Given the description of an element on the screen output the (x, y) to click on. 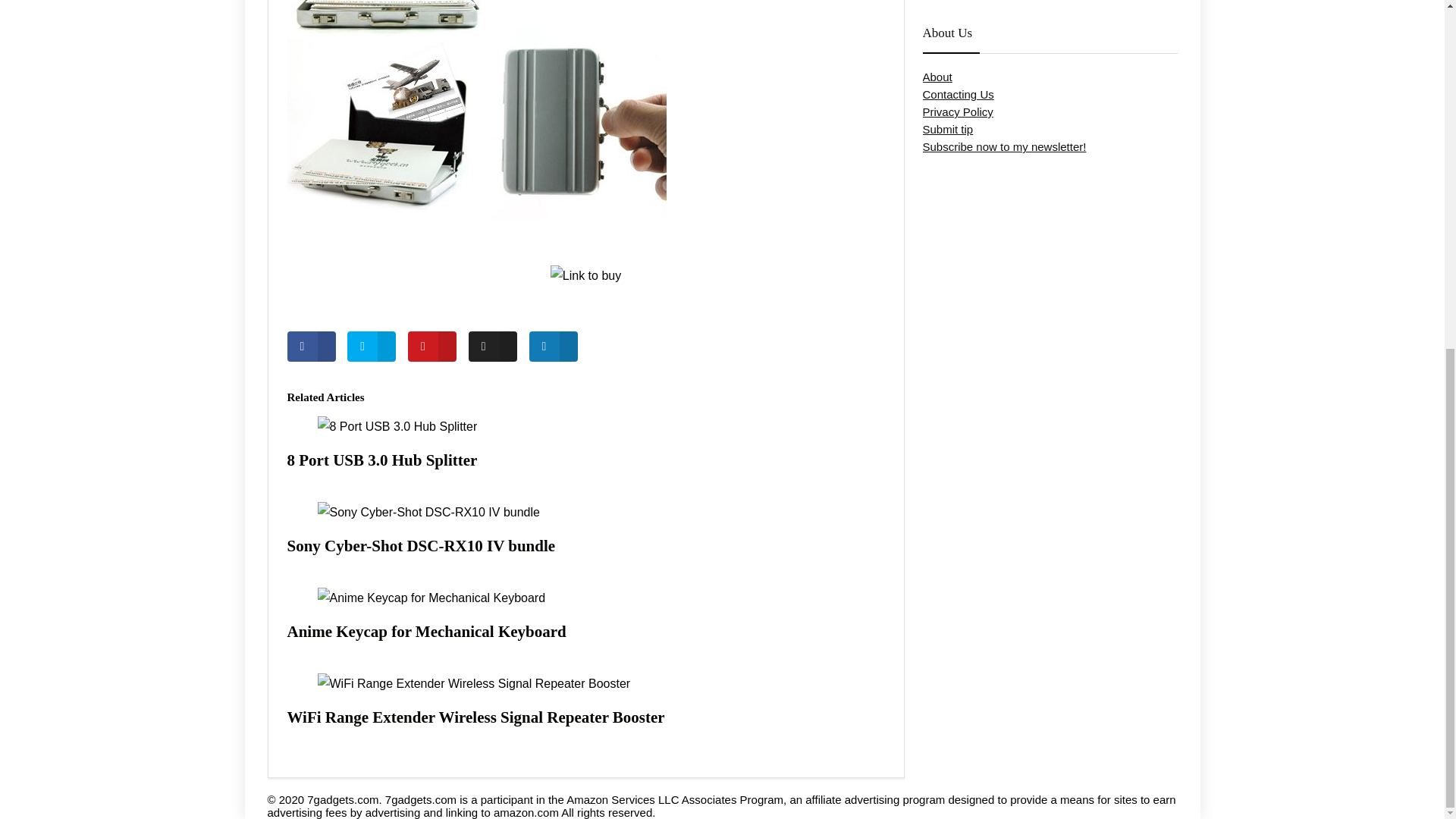
Buy now! (585, 275)
About (936, 76)
Sony Cyber-Shot DSC-RX10 IV bundle (420, 546)
WiFi Range Extender Wireless Signal Repeater Booster (474, 717)
8 Port USB 3.0 Hub Splitter (381, 460)
Privacy Policy (956, 111)
Contacting Us (956, 93)
Anime Keycap for Mechanical Keyboard (426, 631)
